Given the description of an element on the screen output the (x, y) to click on. 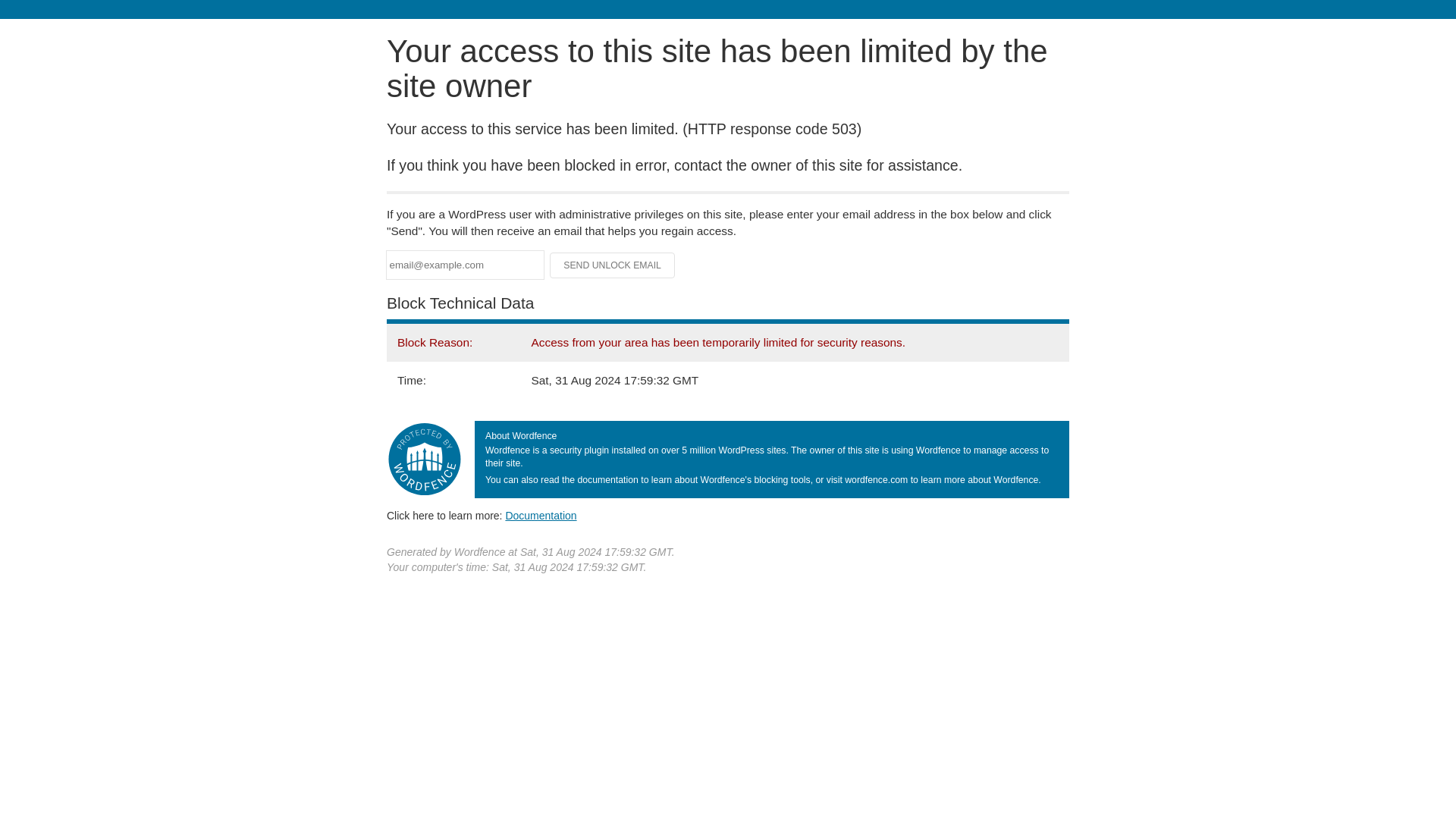
Documentation (540, 515)
Send Unlock Email (612, 265)
Send Unlock Email (612, 265)
